Given the description of an element on the screen output the (x, y) to click on. 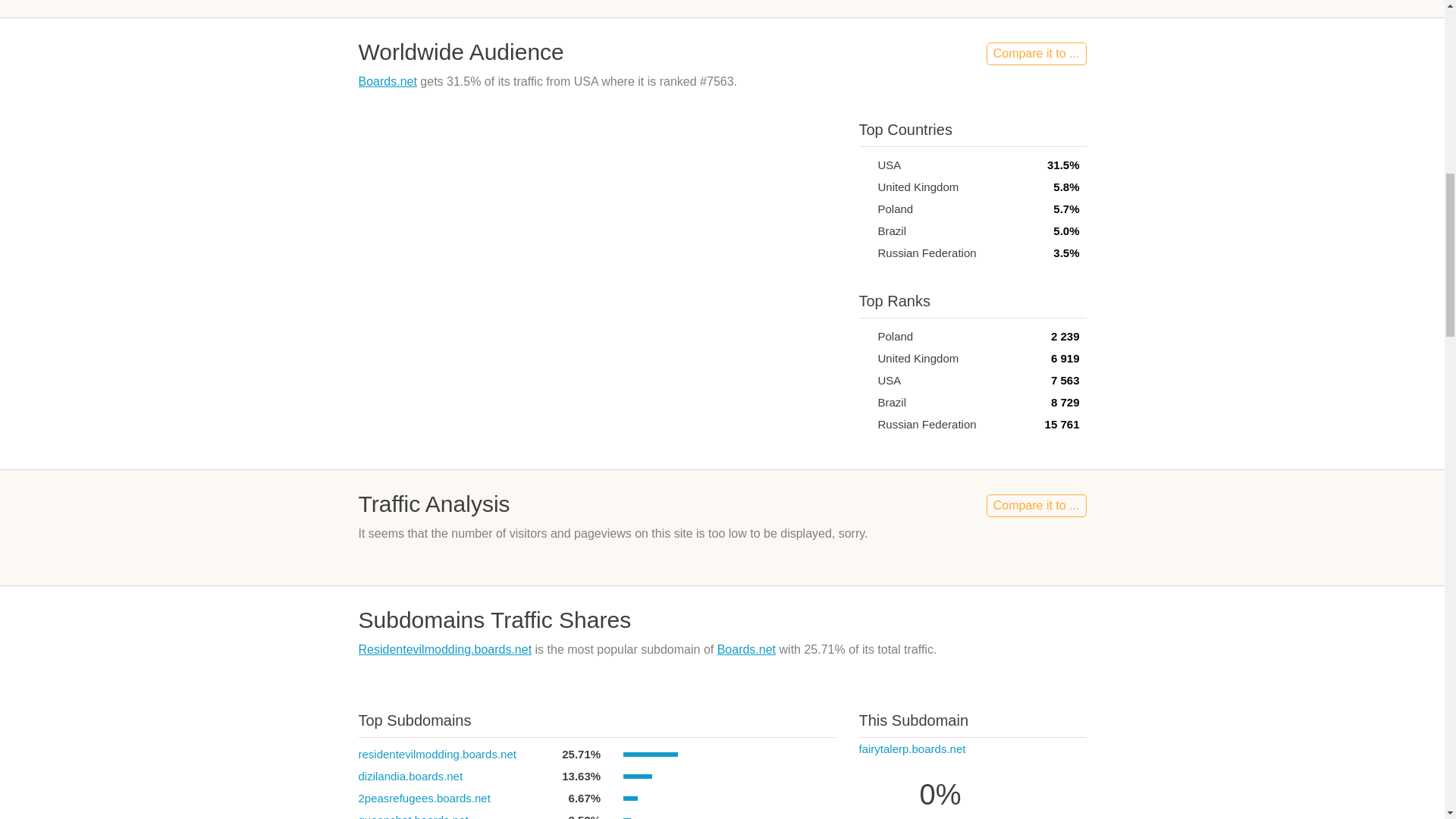
Residentevilmodding.boards.net (444, 649)
United Kingdom (864, 186)
USA (864, 164)
USA (864, 379)
Poland (864, 336)
Compare it to ... (1036, 53)
2peasrefugees.boards.net (423, 797)
Boards.net (746, 649)
Poland (864, 208)
residentevilmodding.boards.net (436, 753)
queenchat.boards.net (412, 816)
Brazil (864, 230)
United Kingdom (864, 357)
Boards.net (387, 81)
fairytalerp.boards.net (912, 748)
